Given the description of an element on the screen output the (x, y) to click on. 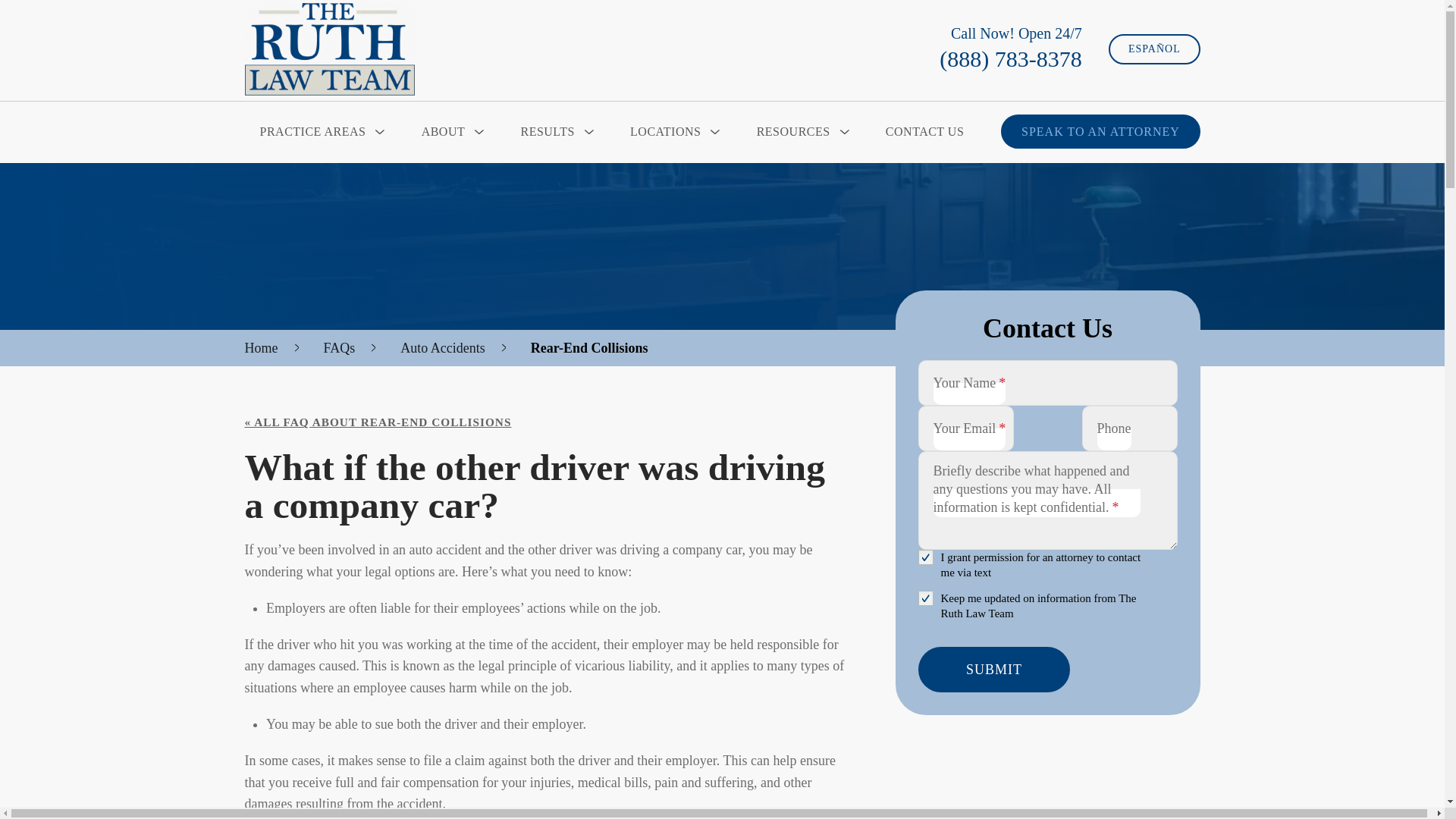
Submit (992, 669)
The Ruth Law Team (328, 48)
PRACTICE AREAS (320, 131)
